Given the description of an element on the screen output the (x, y) to click on. 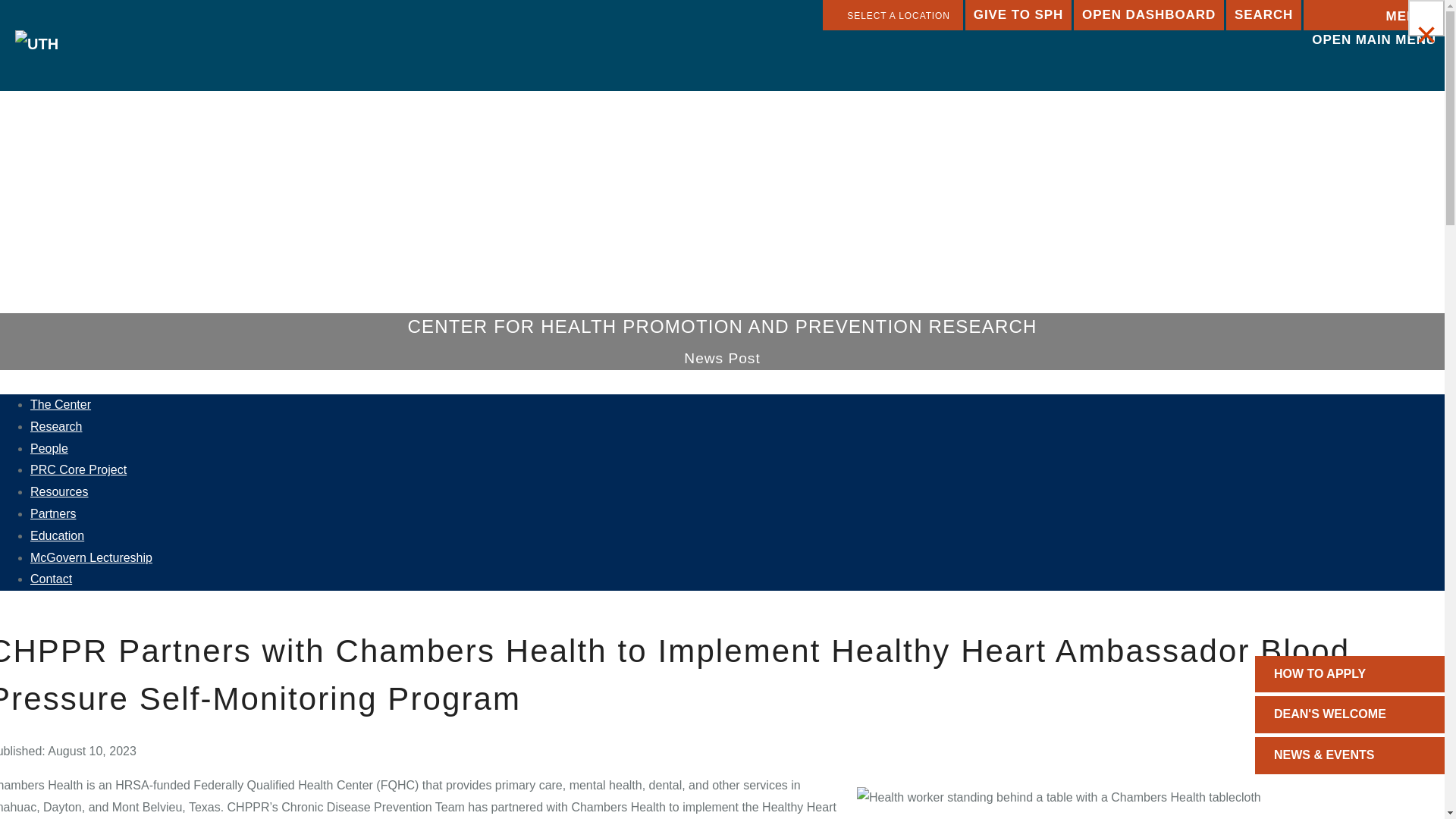
SELECT A LOCATION (892, 15)
SEARCH (1263, 15)
Partners (52, 513)
Contact (50, 578)
PRC Core Project (78, 469)
HOW TO APPLY (1349, 674)
DEAN'S WELCOME (1349, 714)
GIVE TO SPH (1018, 15)
OPEN MAIN MENU (1373, 15)
People (49, 448)
